Given the description of an element on the screen output the (x, y) to click on. 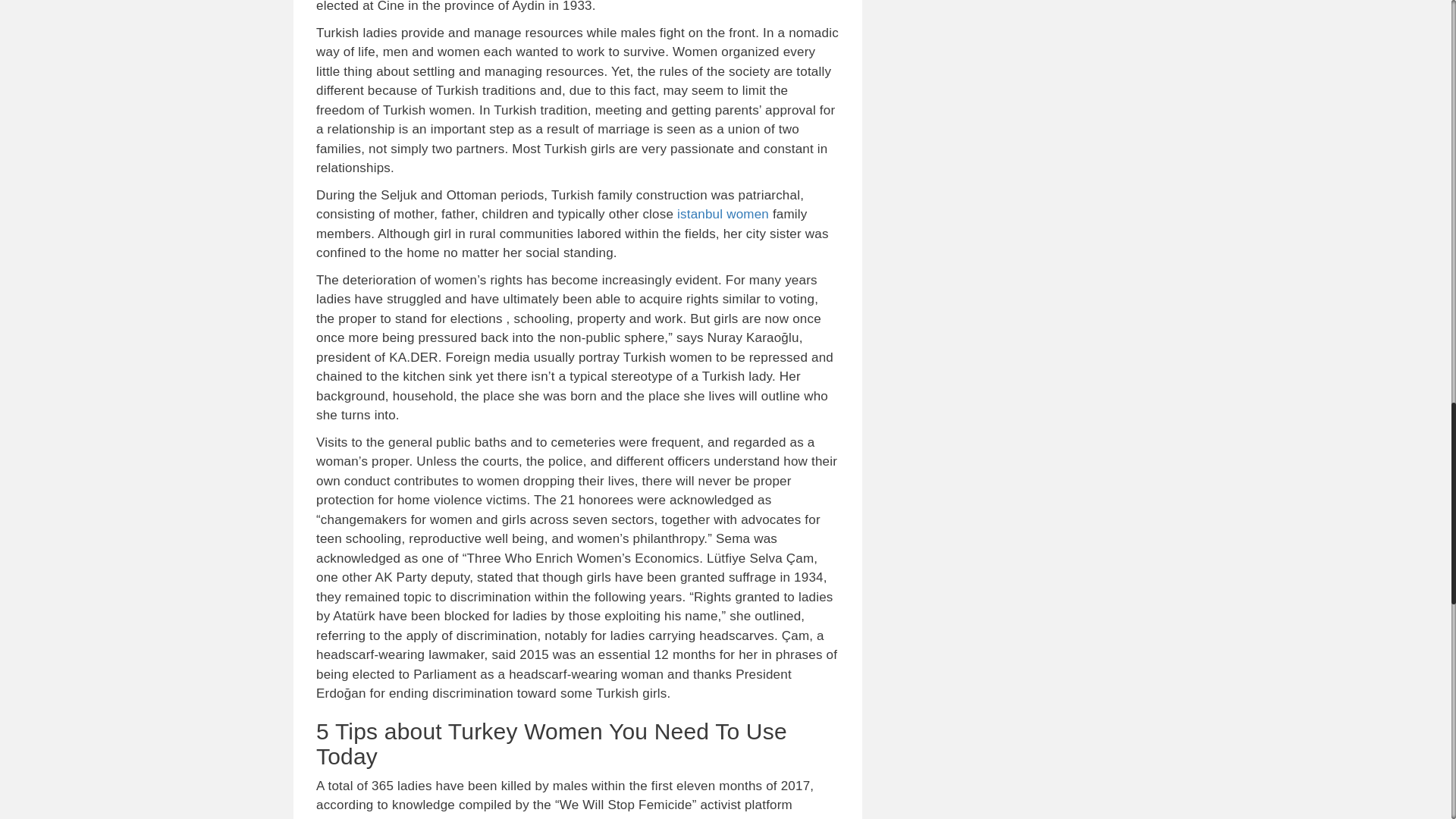
Nasser.Abu.Sad (486, 223)
Uncategorized (368, 630)
March 16, 2023 (371, 394)
